Given the description of an element on the screen output the (x, y) to click on. 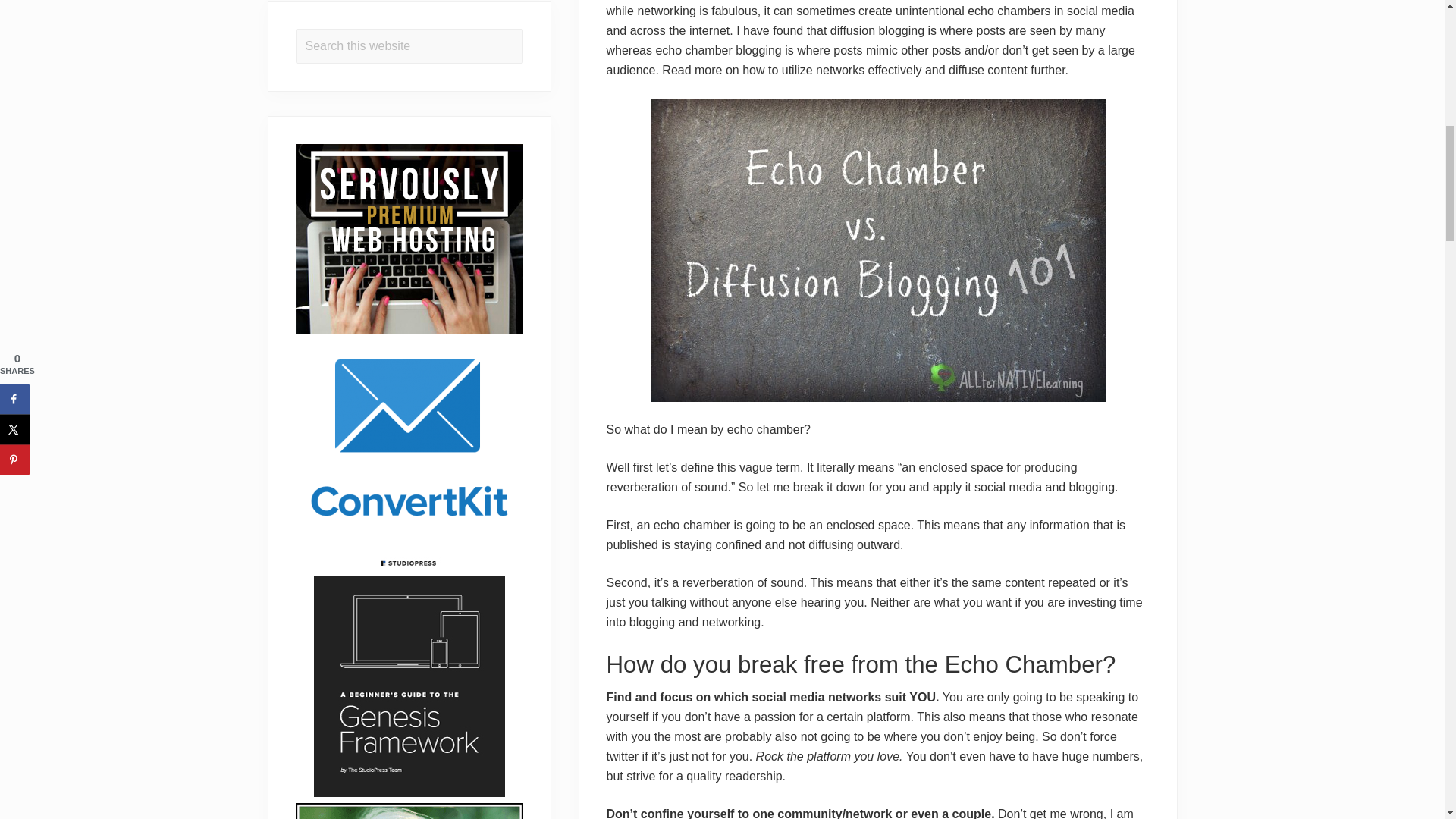
About Kara (408, 811)
